Given the description of an element on the screen output the (x, y) to click on. 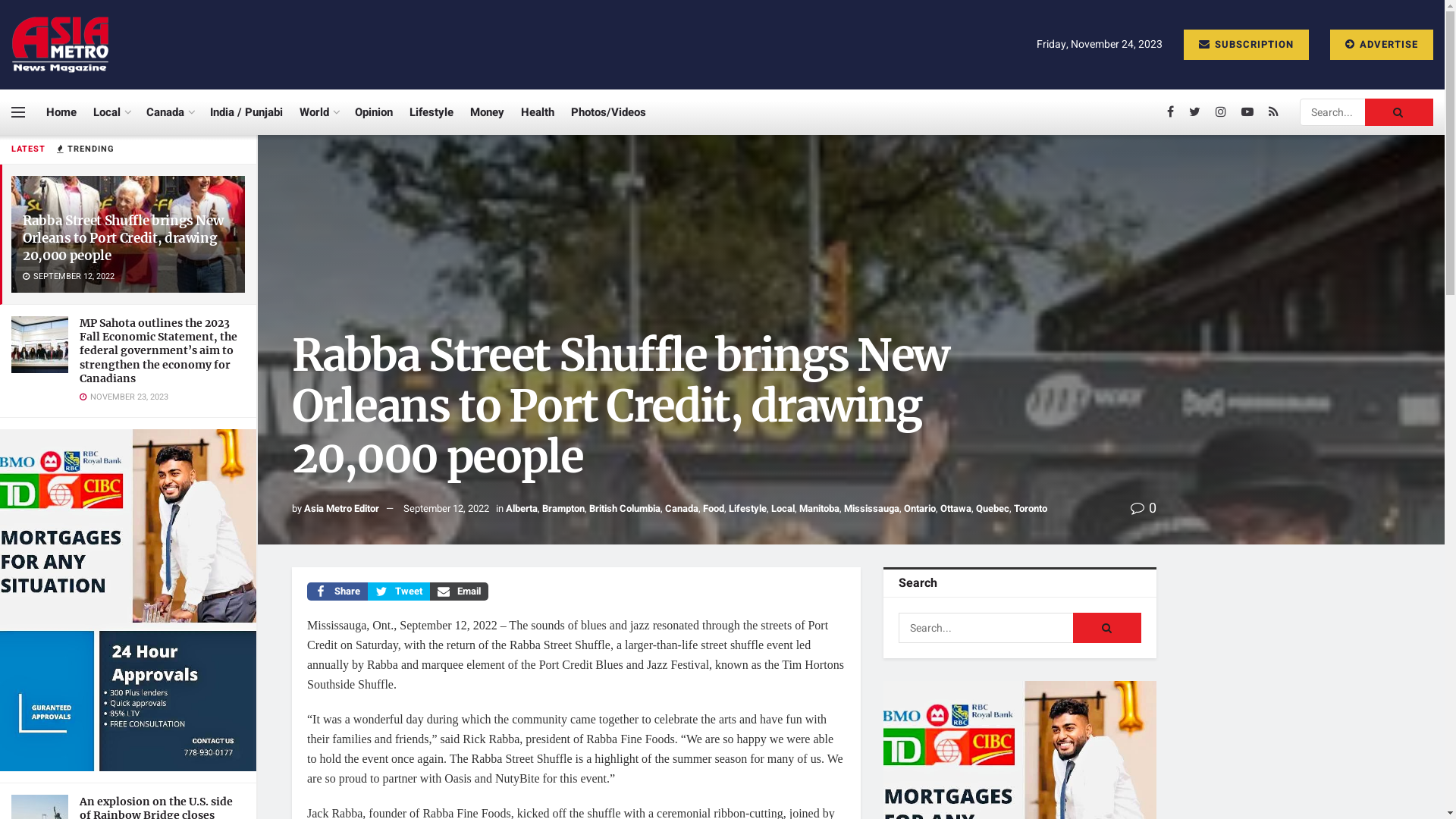
Brampton Element type: text (563, 508)
Toronto Element type: text (1030, 508)
Opinion Element type: text (373, 111)
Local Element type: text (782, 508)
Health Element type: text (537, 111)
Home Element type: text (61, 111)
Money Element type: text (487, 111)
Photos/Videos Element type: text (608, 111)
Manitoba Element type: text (819, 508)
Local Element type: text (111, 111)
0 Element type: text (1143, 508)
World Element type: text (318, 111)
Food Element type: text (713, 508)
SUBSCRIPTION Element type: text (1245, 44)
Alberta Element type: text (521, 508)
Canada Element type: text (169, 111)
Tweet Element type: text (398, 591)
Lifestyle Element type: text (431, 111)
September 12, 2022 Element type: text (446, 508)
Share Element type: text (337, 591)
ADVERTISE Element type: text (1381, 44)
India / Punjabi Element type: text (246, 111)
Mississauga Element type: text (871, 508)
Ontario Element type: text (919, 508)
Ottawa Element type: text (955, 508)
Email Element type: text (458, 591)
Canada Element type: text (681, 508)
Quebec Element type: text (992, 508)
Asia Metro Editor Element type: text (341, 508)
British Columbia Element type: text (624, 508)
Lifestyle Element type: text (747, 508)
